Given the description of an element on the screen output the (x, y) to click on. 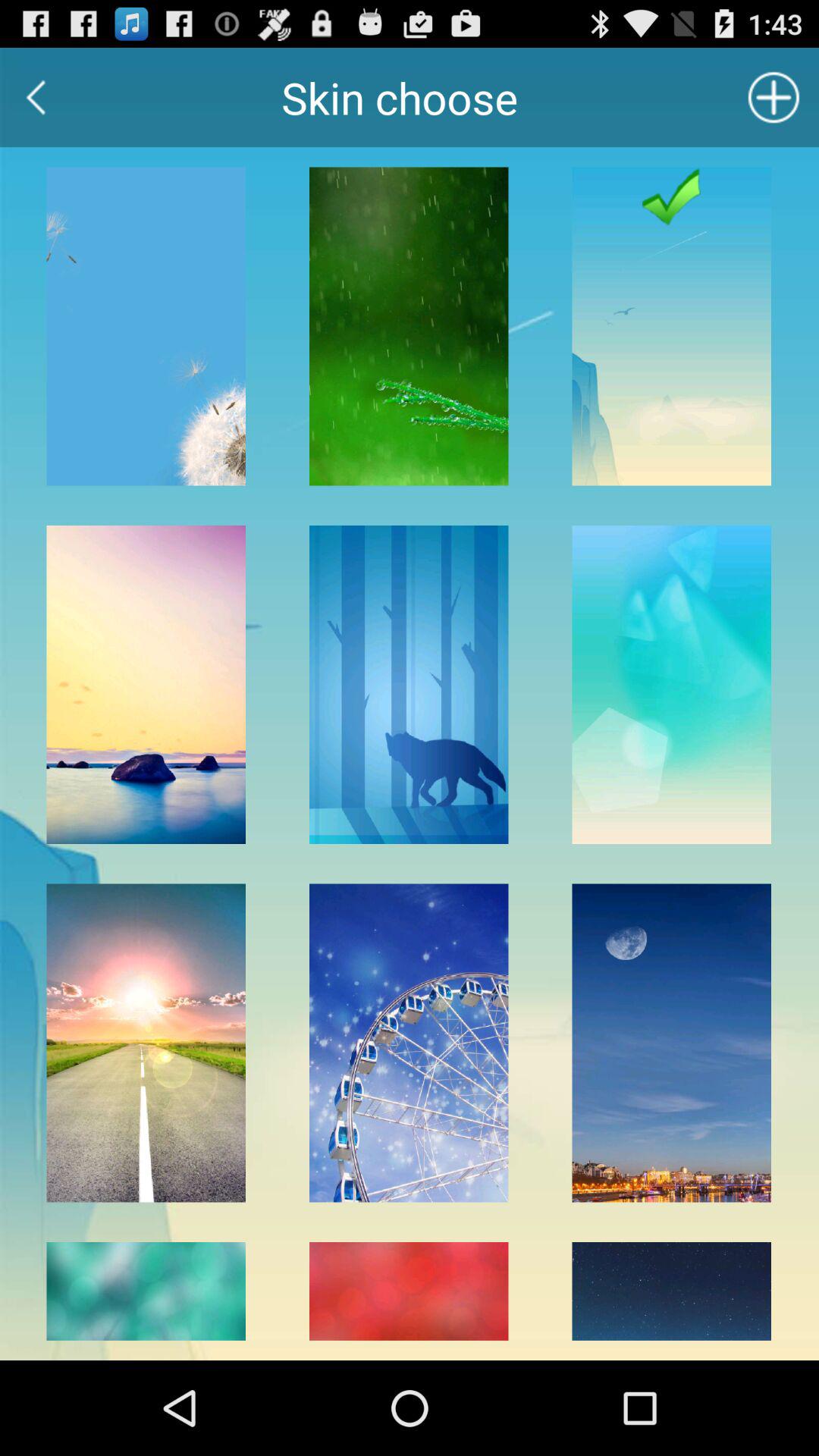
choose the icon to the left of skin choose app (35, 97)
